Given the description of an element on the screen output the (x, y) to click on. 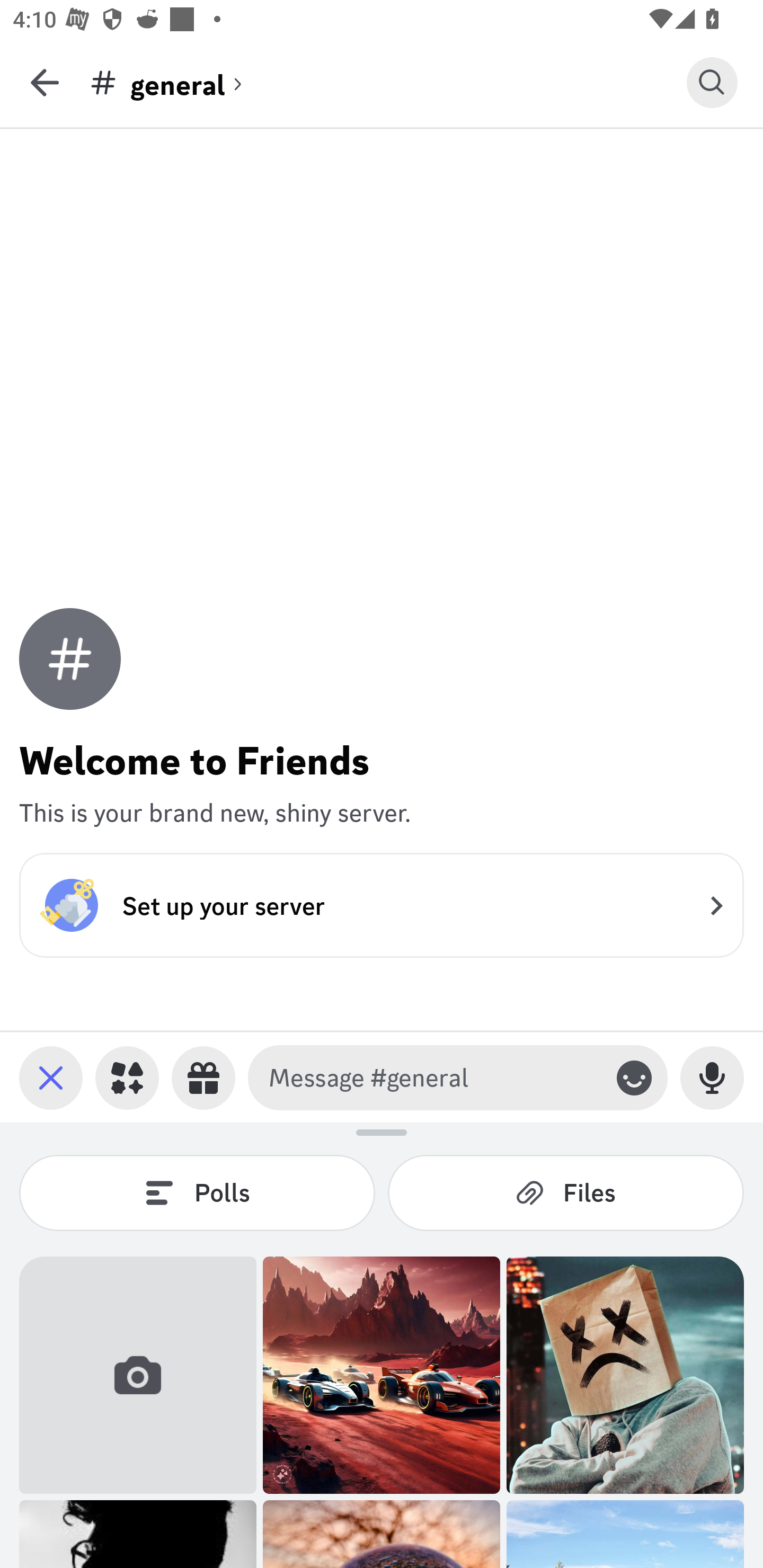
general (channel) general general (channel) (387, 82)
Back (44, 82)
Search (711, 82)
Set up your server (381, 905)
Message #general Toggle emoji keyboard (457, 1077)
Toggle media keyboard (50, 1077)
Apps (126, 1077)
Send a gift (203, 1077)
Record Voice Message (711, 1077)
Toggle emoji keyboard (634, 1077)
Polls (197, 1192)
Files (565, 1192)
Camera (137, 1374)
Photo (381, 1374)
Photo (624, 1374)
